Given the description of an element on the screen output the (x, y) to click on. 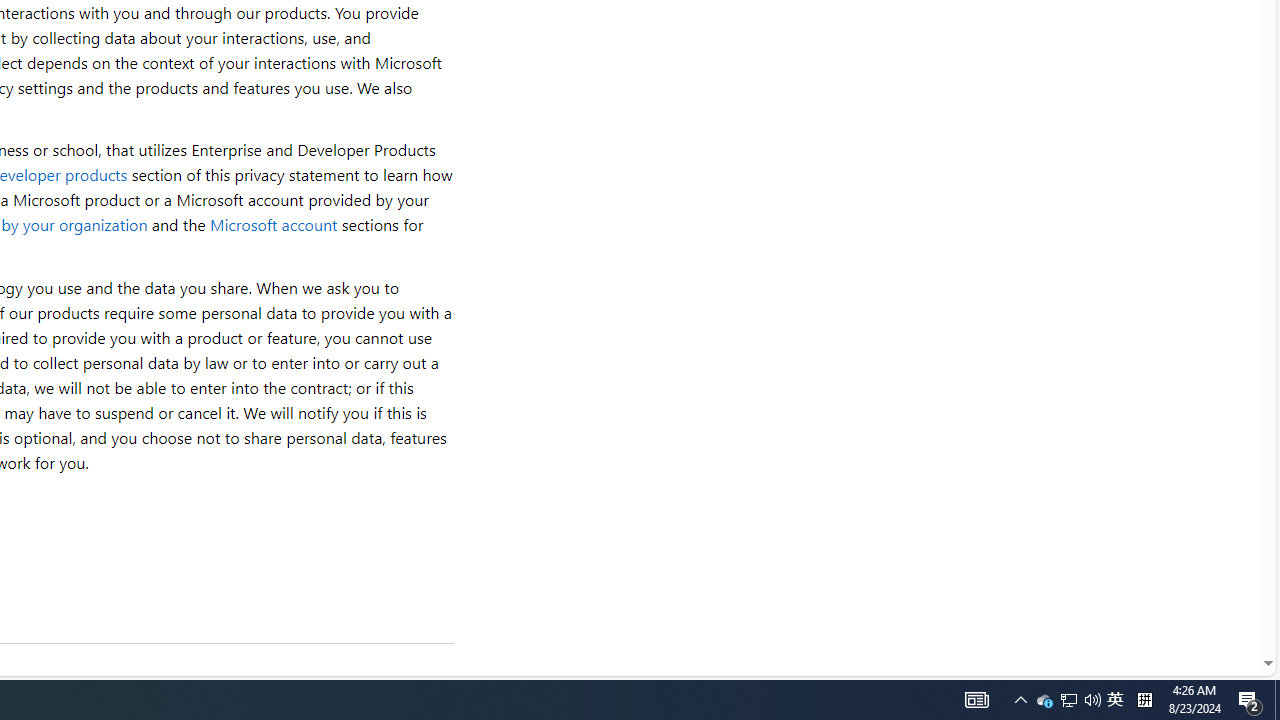
Microsoft account (273, 224)
